Given the description of an element on the screen output the (x, y) to click on. 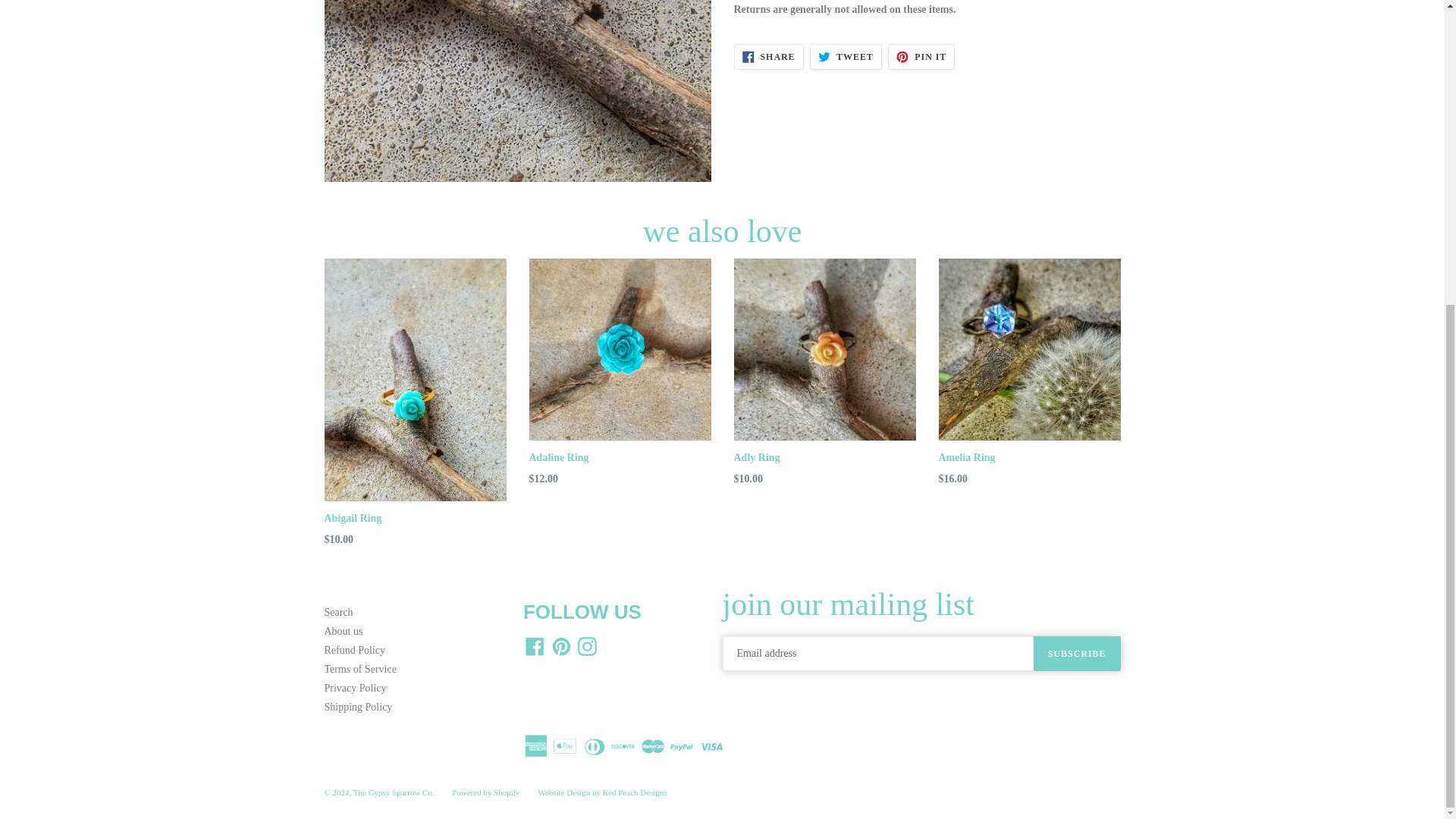
The Gypsy Sparrow Co. on Pinterest (560, 646)
Pin on Pinterest (921, 56)
Share on Facebook (768, 56)
Tweet on Twitter (845, 56)
The Gypsy Sparrow Co. on Instagram (586, 646)
The Gypsy Sparrow Co. on Facebook (534, 646)
